Given the description of an element on the screen output the (x, y) to click on. 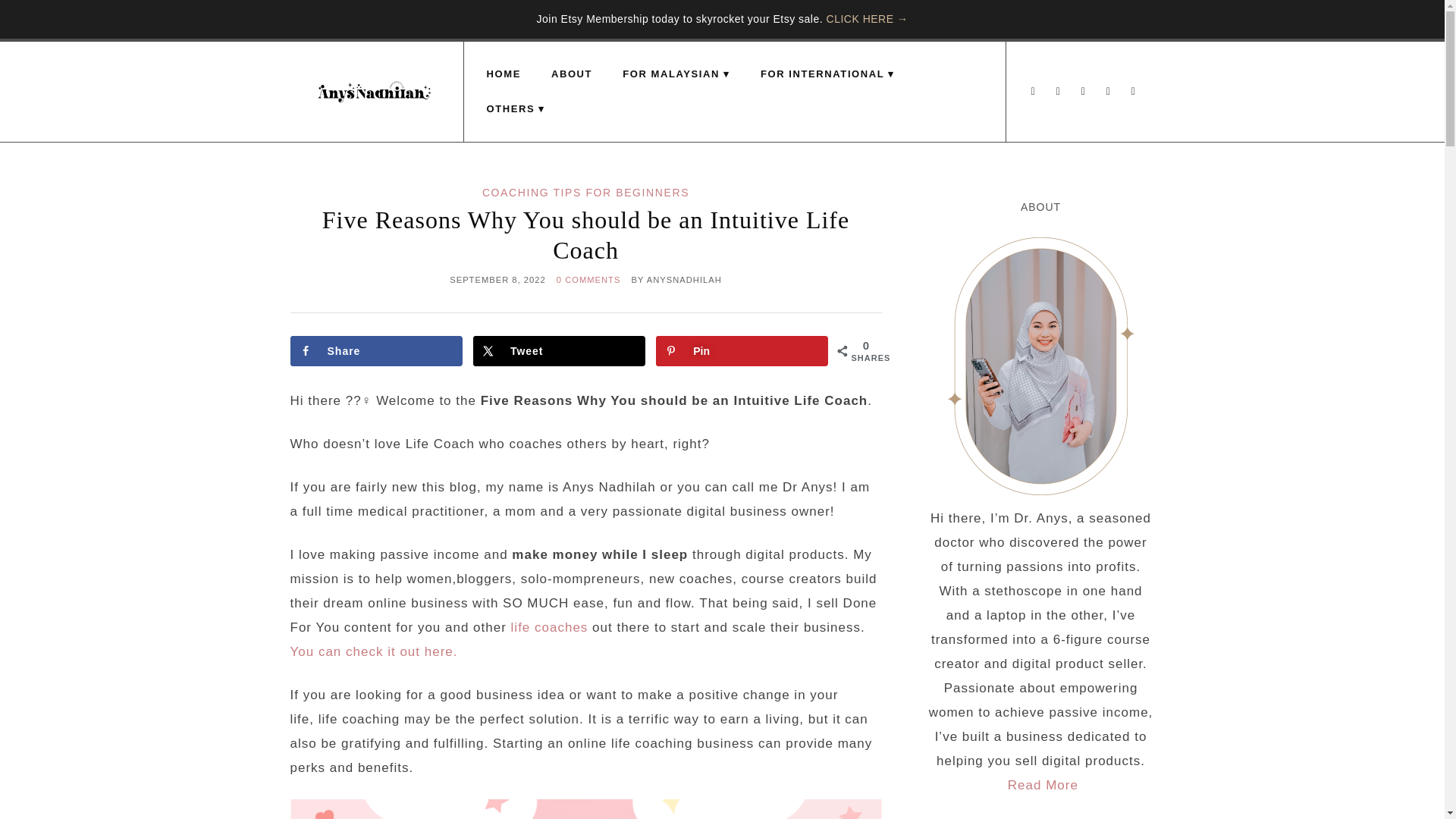
FOR INTERNATIONAL (827, 73)
Five Reasons Why You should be an Intuitive Life Coach (584, 234)
life coaches (549, 626)
0 COMMENTS (588, 279)
HOME (503, 73)
ABOUT (571, 73)
Share (375, 350)
COACHING TIPS FOR BEGINNERS (584, 192)
Pin (742, 350)
FOR MALAYSIAN (676, 73)
OTHERS (515, 108)
Five Reasons Why You should be an Intuitive Life Coach (584, 234)
Tweet (559, 350)
Share on Facebook (375, 350)
Save to Pinterest (742, 350)
